Given the description of an element on the screen output the (x, y) to click on. 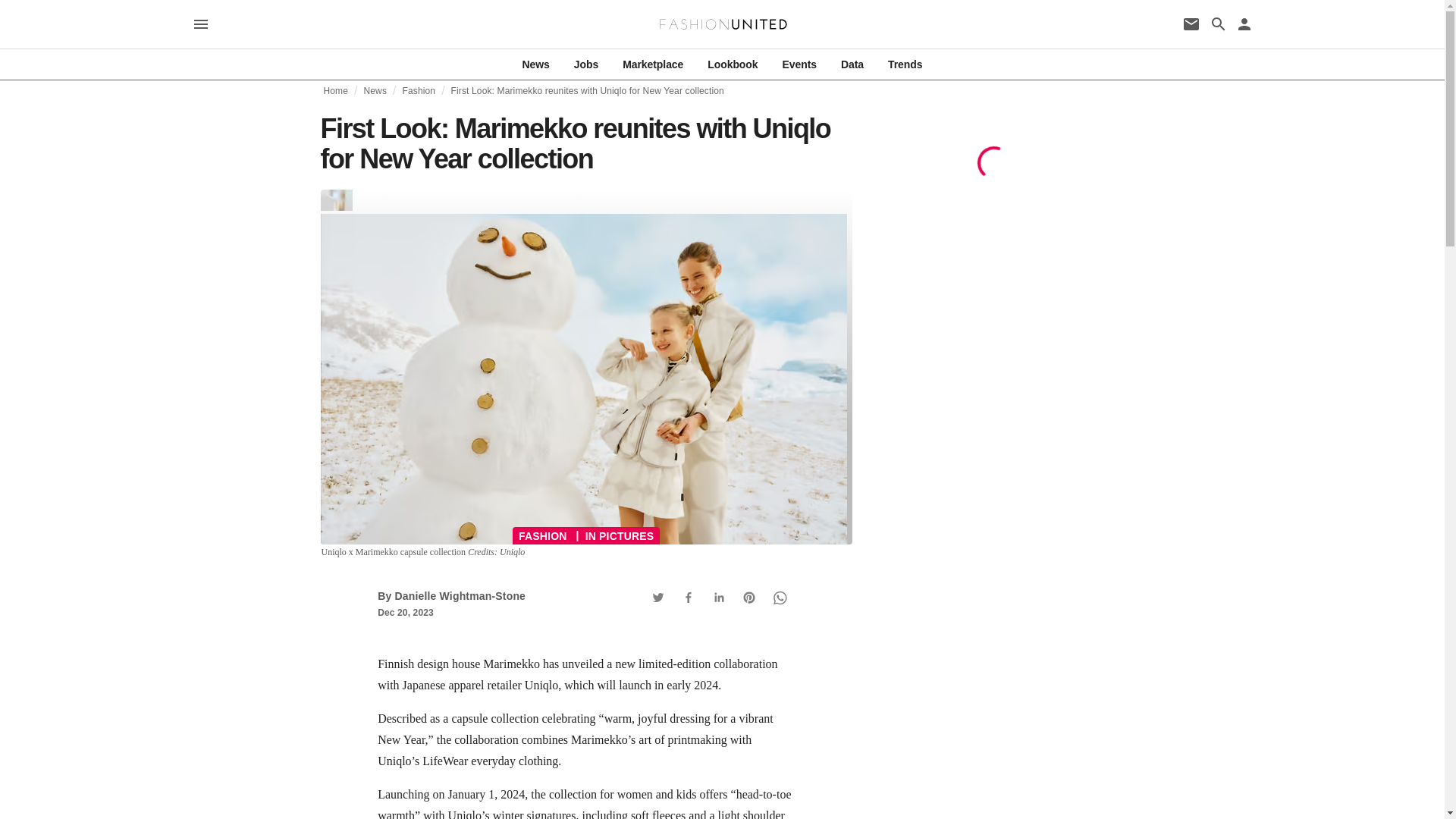
Data (852, 64)
Events (799, 64)
Marketplace (652, 64)
Jobs (586, 64)
News (375, 90)
Fashion (418, 90)
By Danielle Wightman-Stone (451, 595)
Lookbook (732, 64)
